Given the description of an element on the screen output the (x, y) to click on. 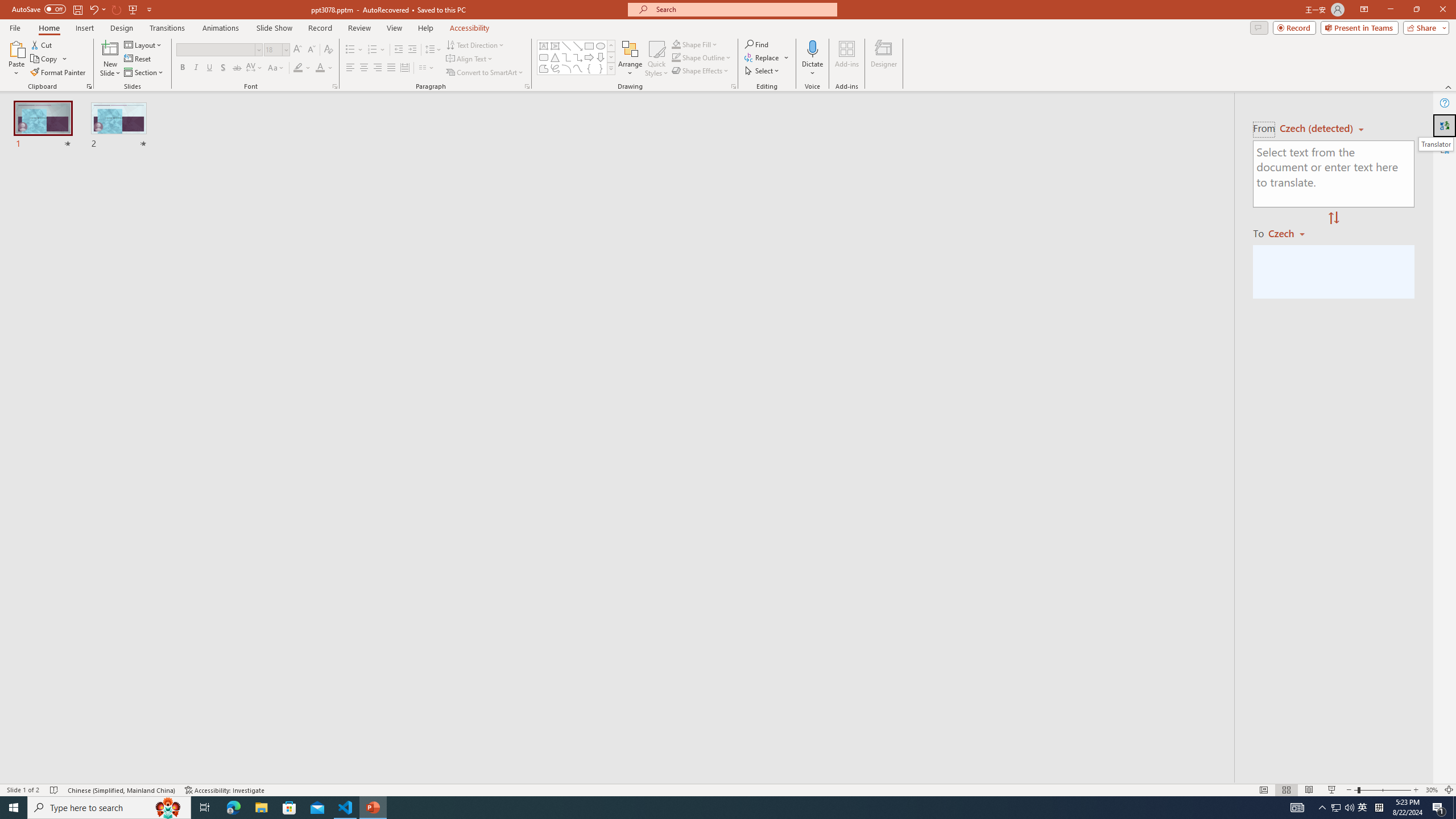
Justify (390, 67)
Layout (143, 44)
Change Case (276, 67)
Class: MsoCommandBar (728, 789)
Text Direction (476, 44)
Customize Quick Access Toolbar (149, 9)
Quick Styles (656, 58)
Translator (1444, 125)
Animations (220, 28)
Review (359, 28)
Text Box (543, 45)
Shape Outline (701, 56)
Connector: Elbow Arrow (577, 57)
Bullets (349, 49)
